Given the description of an element on the screen output the (x, y) to click on. 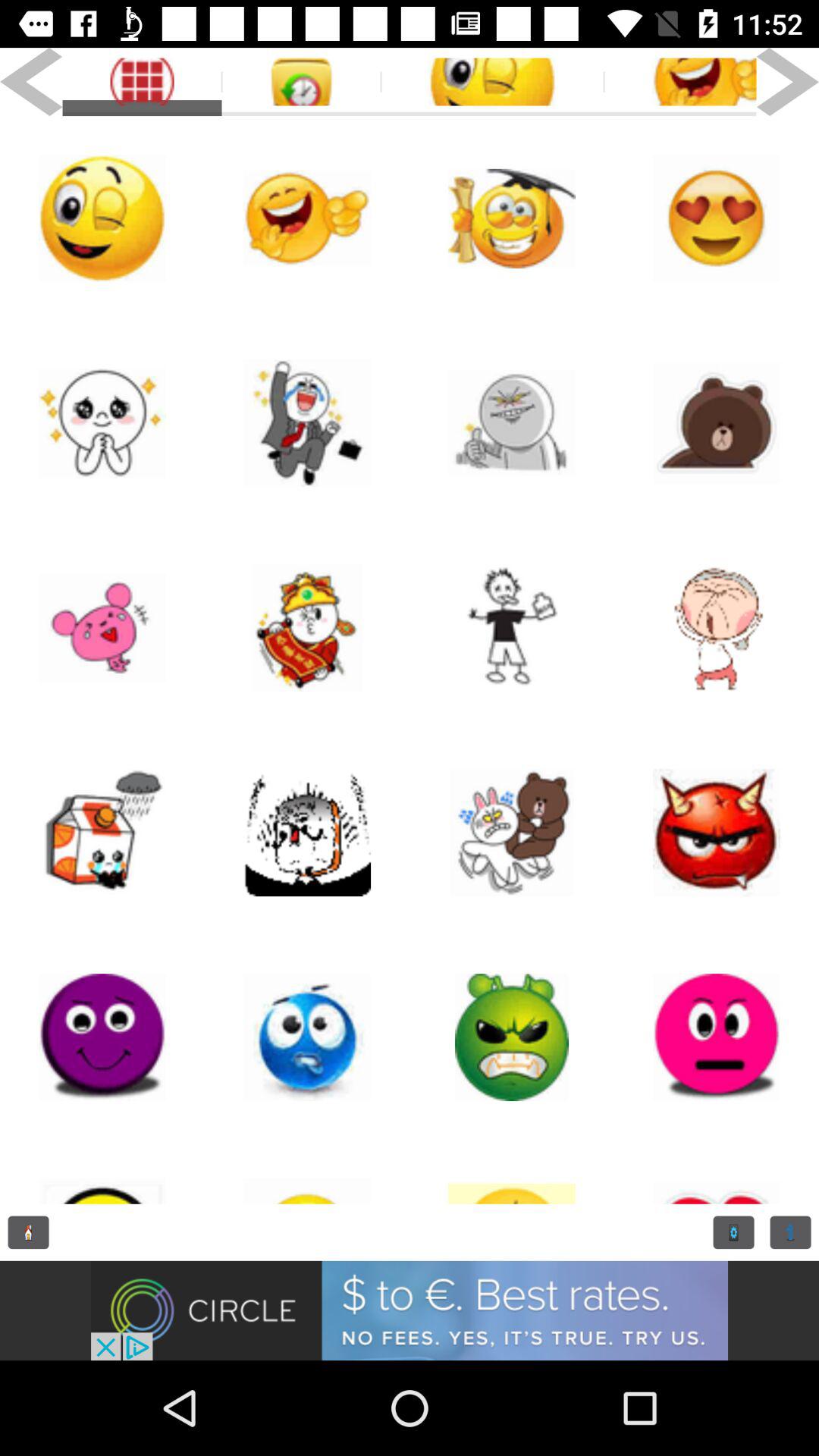
angry symbol (716, 1037)
